Given the description of an element on the screen output the (x, y) to click on. 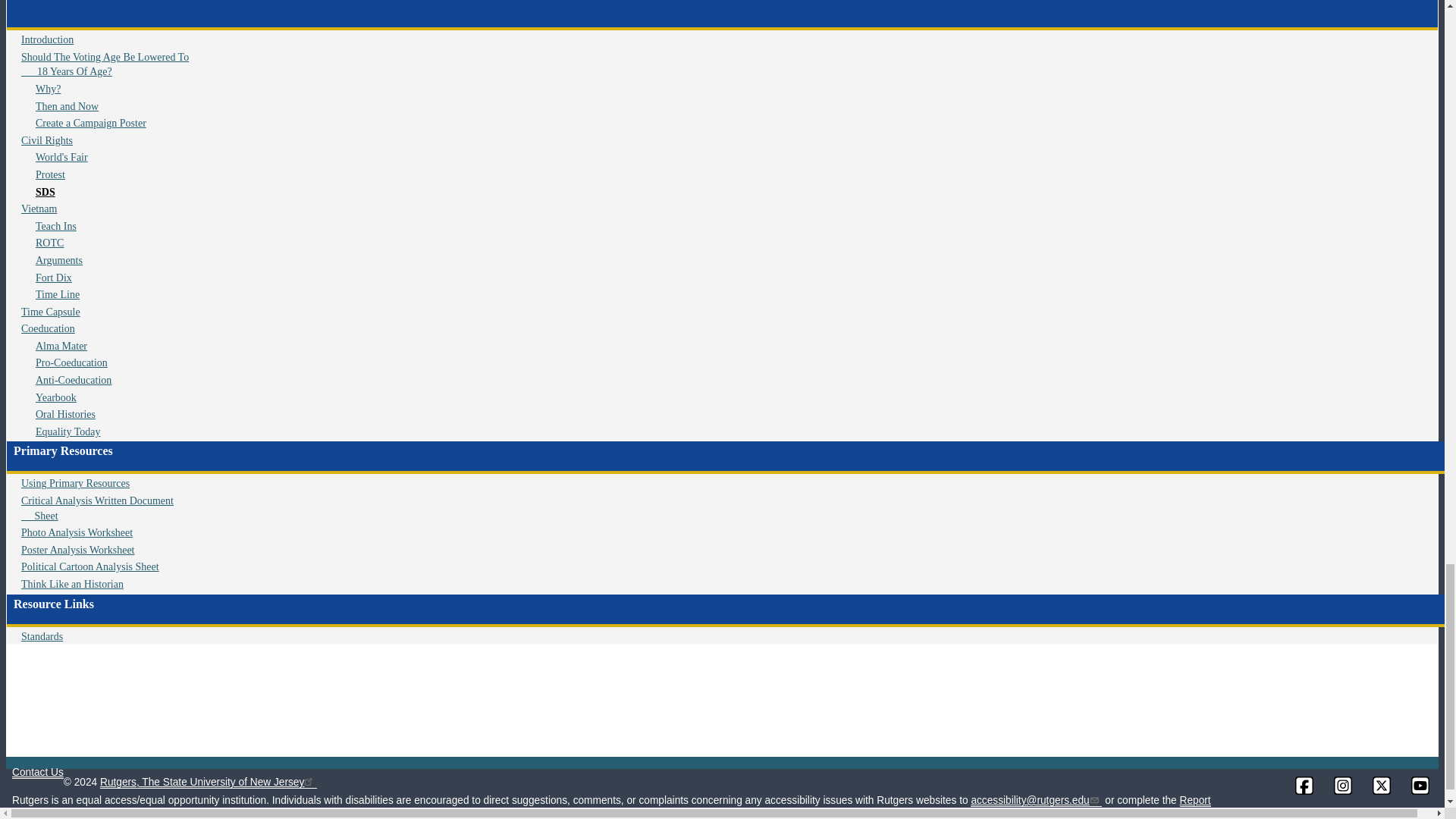
Introduction (47, 39)
Why? (47, 89)
Coeducation (48, 328)
SDS (44, 192)
Anti-Coeducation (73, 379)
Arguments (58, 260)
Fort Dix (52, 277)
Then and Now (66, 106)
Alma Mater (60, 346)
Facebook (1304, 785)
Time Capsule (50, 311)
Teach Ins (55, 225)
ROTC (49, 242)
Civil Rights (46, 140)
Youtube (1419, 785)
